Given the description of an element on the screen output the (x, y) to click on. 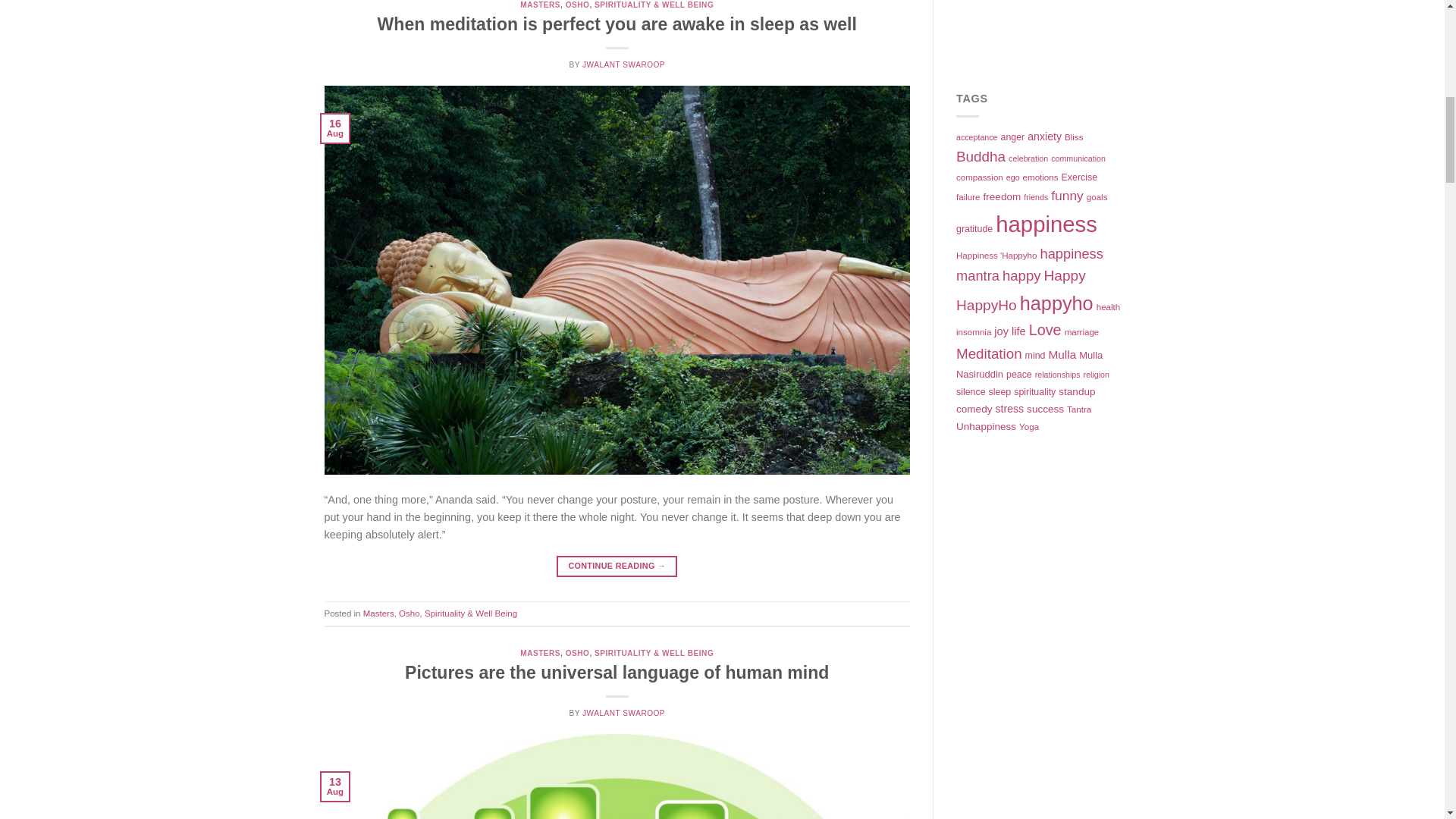
Advertisement (1051, 33)
Advertisement (1051, 722)
